Given the description of an element on the screen output the (x, y) to click on. 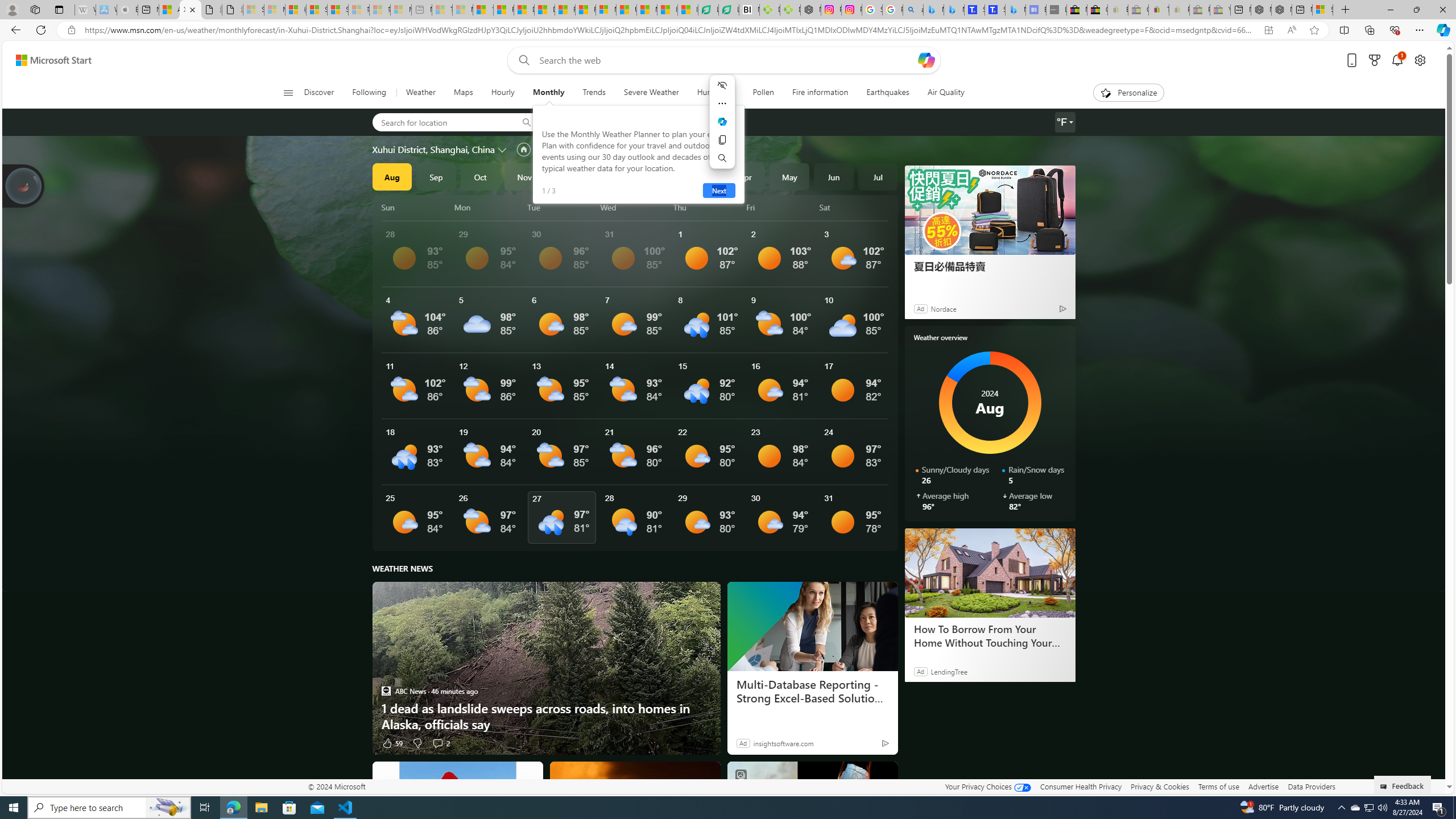
Maps (462, 92)
Microsoft rewards (1374, 60)
Maps (462, 92)
Jul (877, 176)
